Given the description of an element on the screen output the (x, y) to click on. 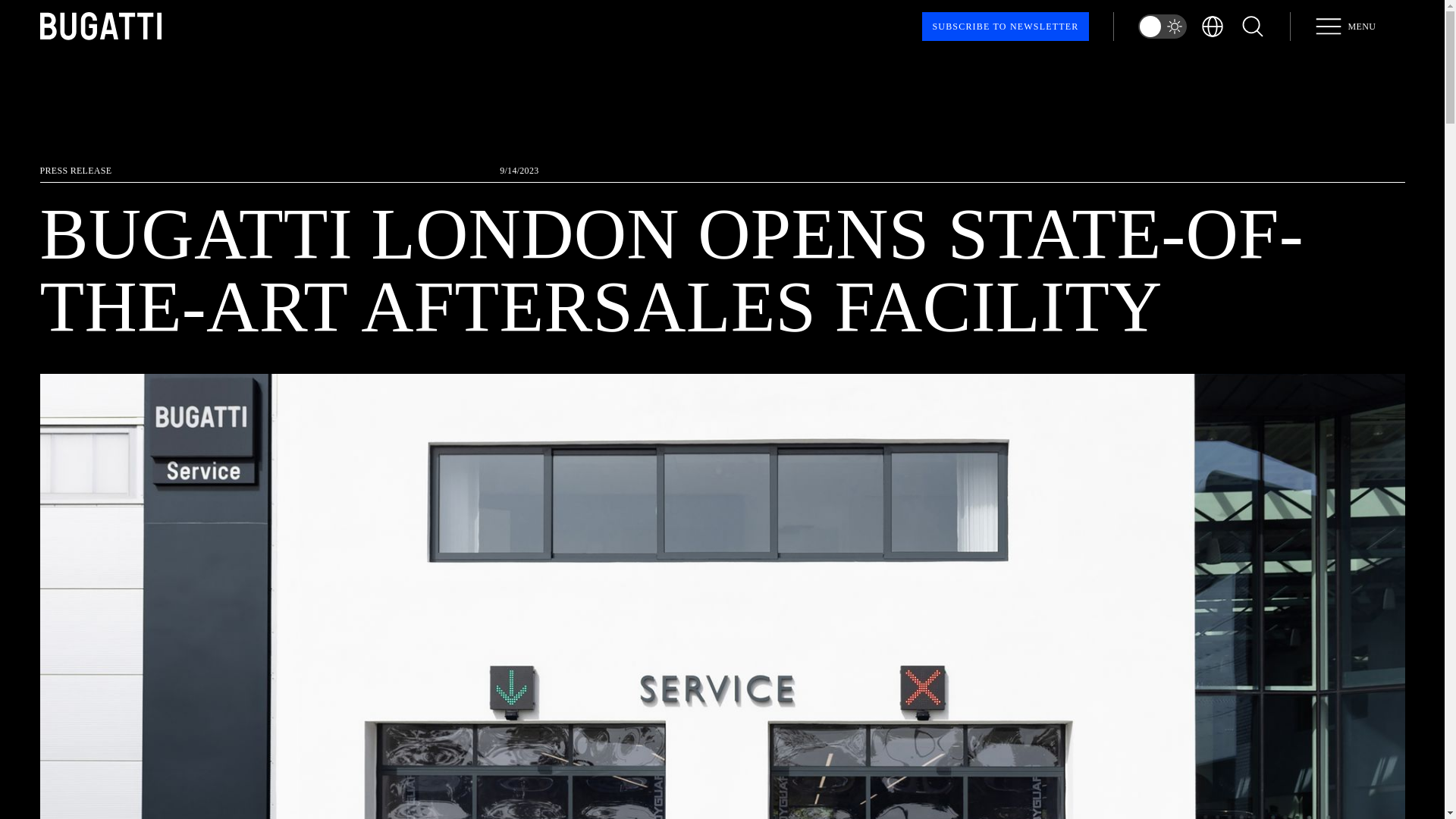
Bugatti (99, 26)
Switch to light mode (1162, 26)
Search Bugatti Newsroom (1344, 26)
SUBSCRIBE TO NEWSLETTER (1252, 26)
Change Language (1004, 26)
